Given the description of an element on the screen output the (x, y) to click on. 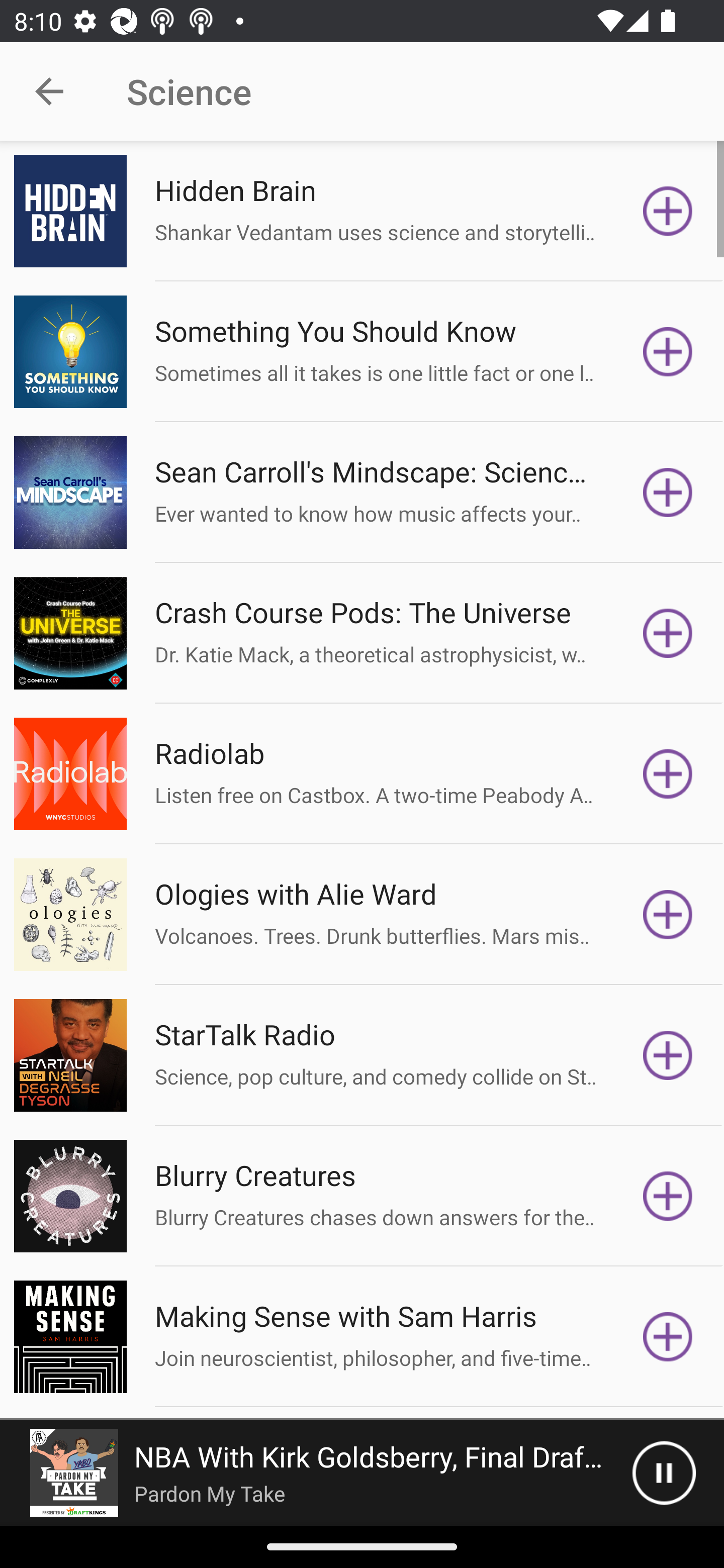
Navigate up (49, 91)
Subscribe (667, 211)
Subscribe (667, 350)
Subscribe (667, 491)
Subscribe (667, 633)
Subscribe (667, 773)
Subscribe (667, 913)
Subscribe (667, 1054)
Subscribe (667, 1195)
Subscribe (667, 1336)
Pause (663, 1472)
